Given the description of an element on the screen output the (x, y) to click on. 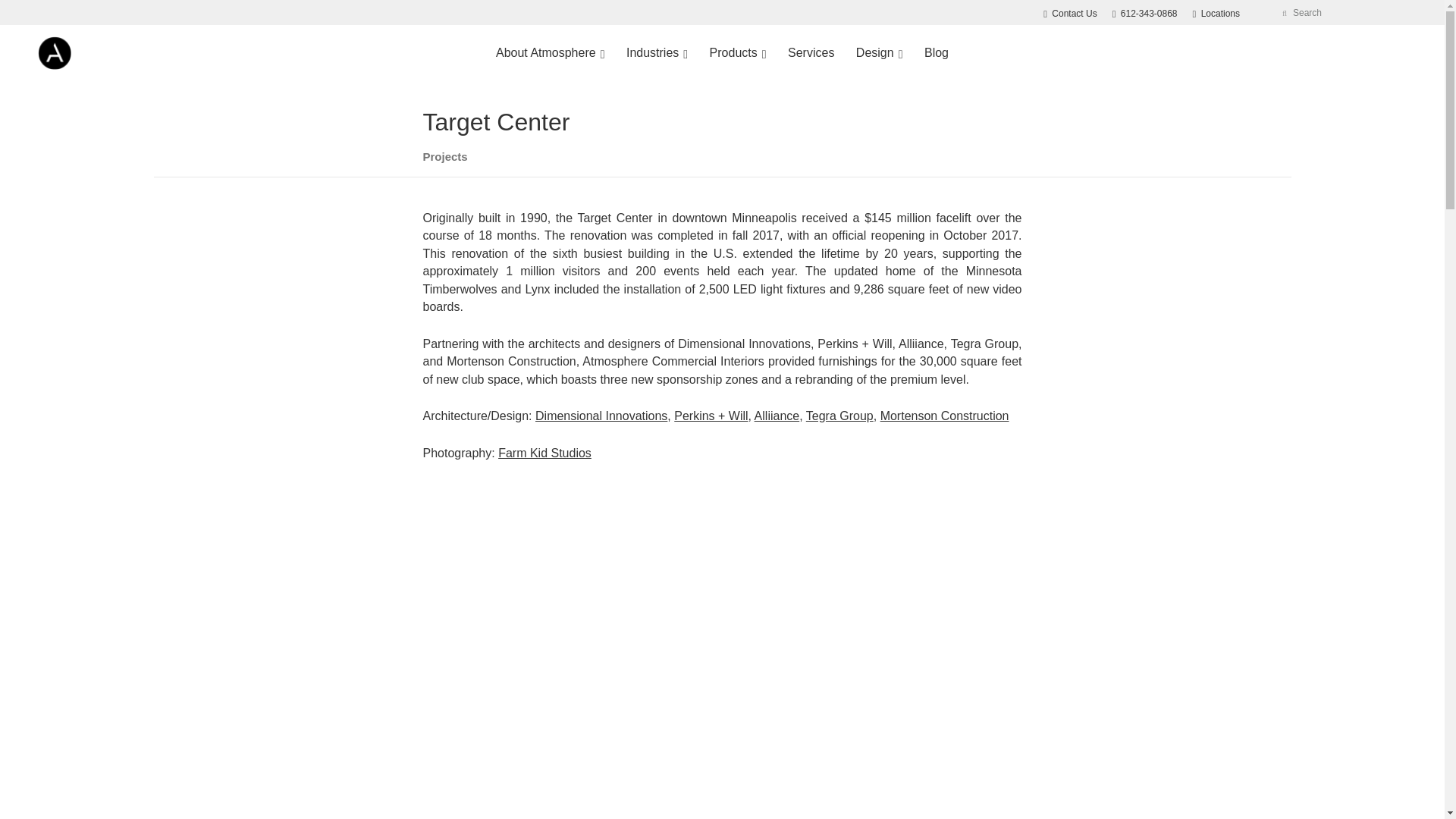
Locations (1216, 13)
Contact Us (1069, 13)
Industries (657, 53)
About Atmosphere (549, 53)
Design (879, 53)
Farm Kid Studios (544, 452)
Services (810, 53)
Steelcase 2022 Premier Partner (1372, 53)
Dimensional Innovations (600, 415)
Submit Search (1284, 12)
Mortenson Construction (944, 415)
Projects (445, 155)
Alliiance (1144, 13)
Products (776, 415)
